Given the description of an element on the screen output the (x, y) to click on. 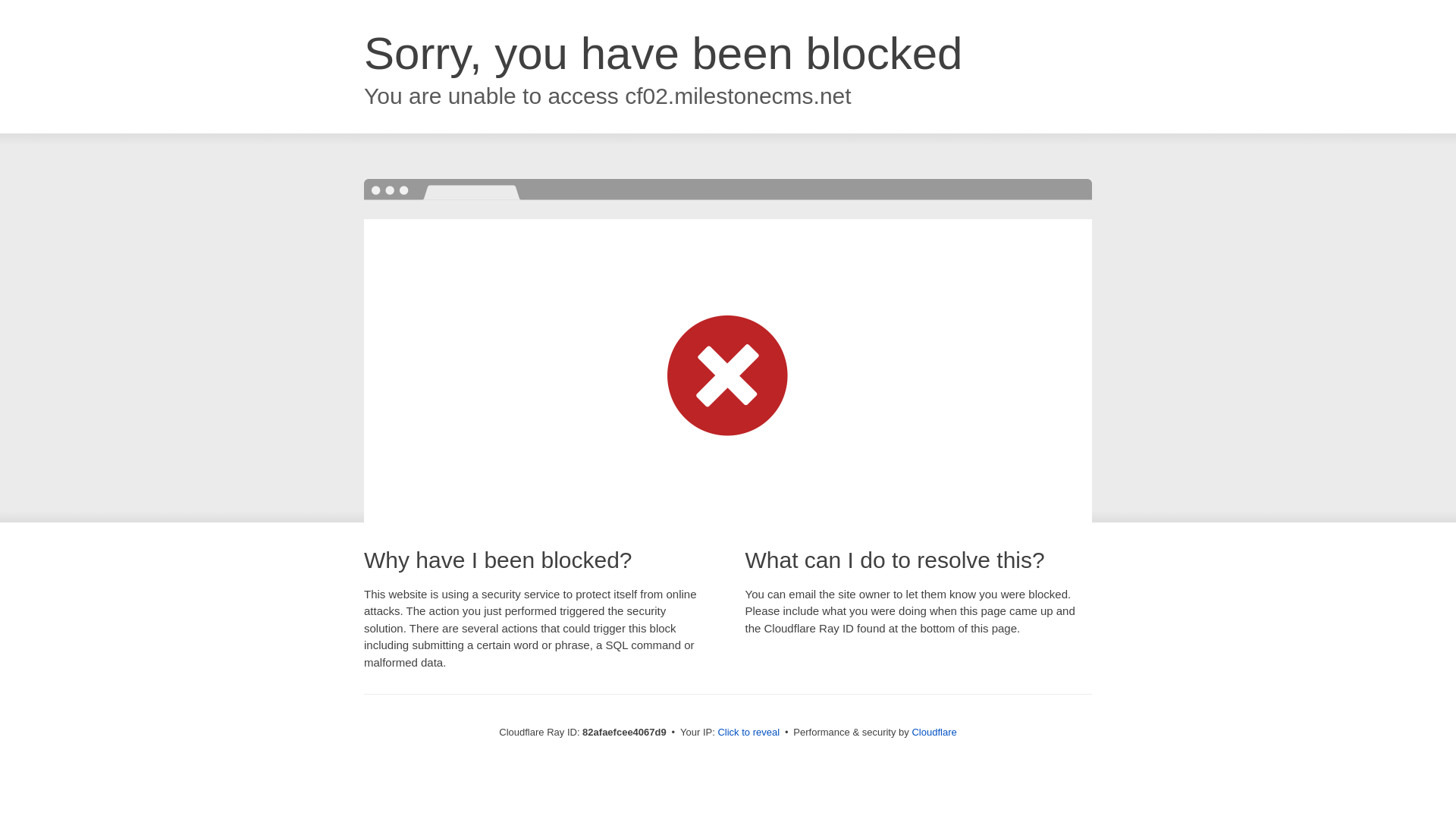
Cloudflare Element type: text (933, 731)
Click to reveal Element type: text (748, 732)
